Given the description of an element on the screen output the (x, y) to click on. 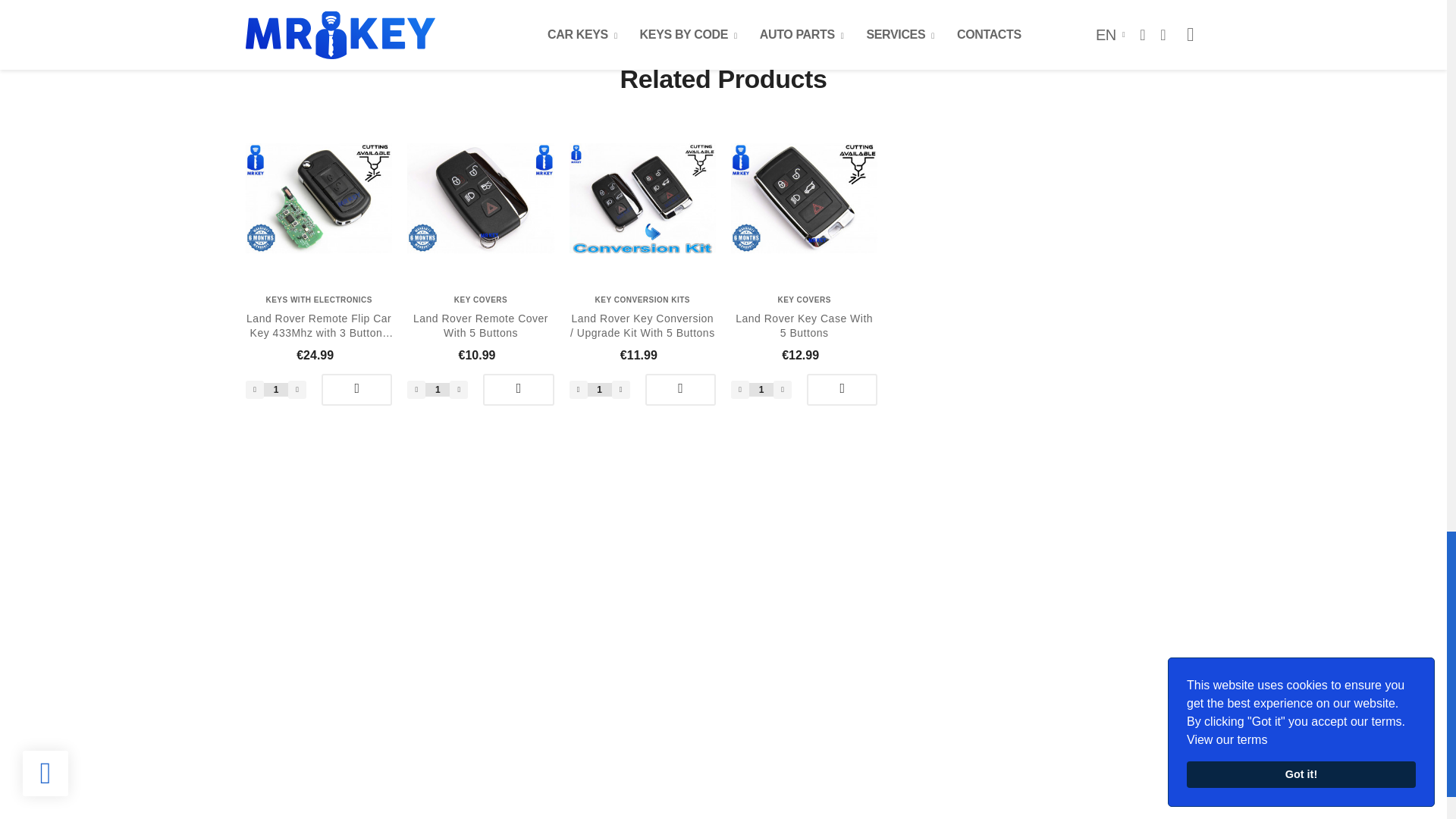
1 (275, 389)
1 (761, 389)
1 (599, 389)
Add to cart (356, 389)
Add to cart (680, 389)
1 (437, 389)
Add to cart (518, 389)
Add to cart (841, 389)
